Given the description of an element on the screen output the (x, y) to click on. 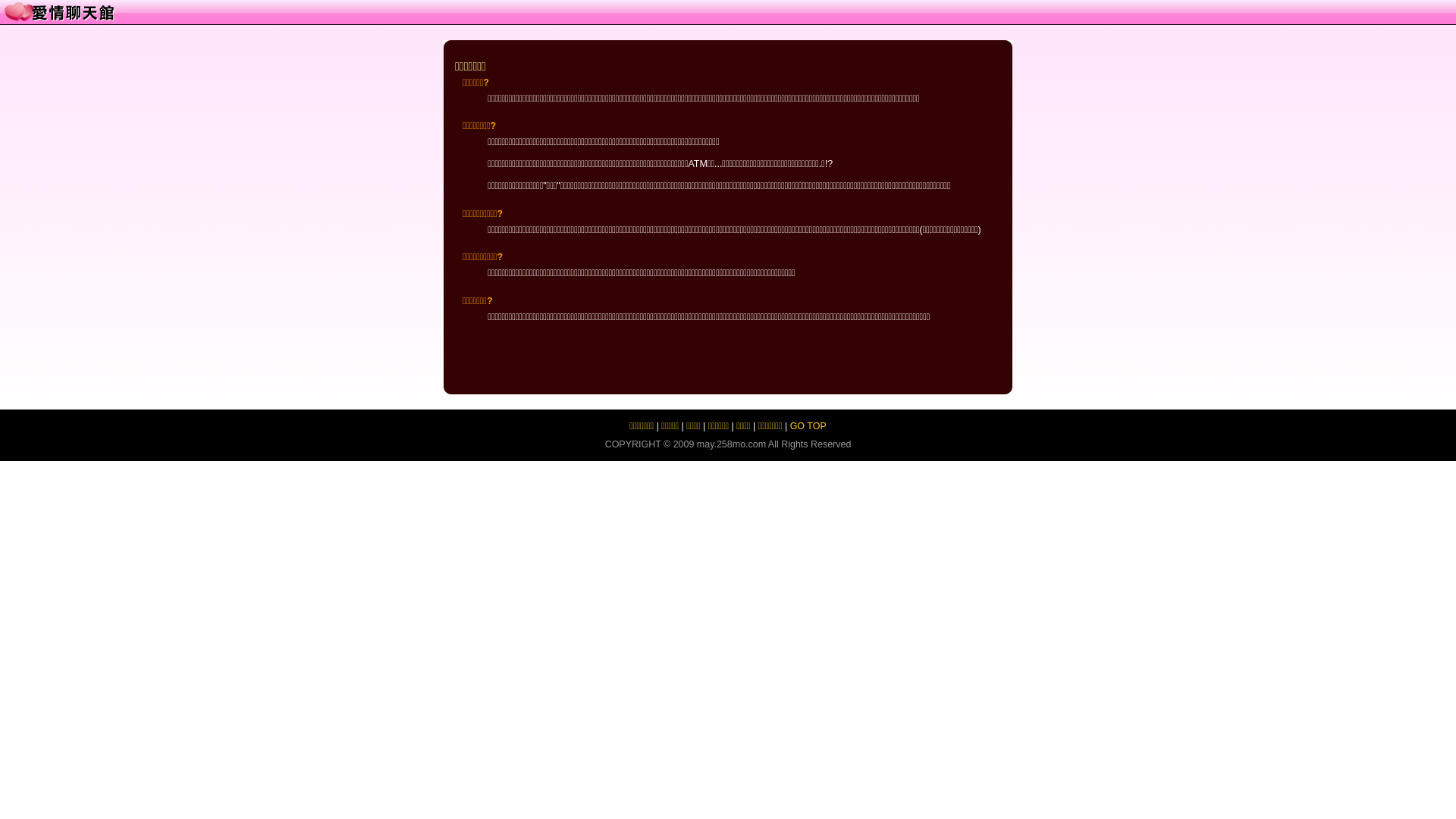
GO TOP Element type: text (808, 425)
may.258mo.com Element type: text (730, 444)
